Given the description of an element on the screen output the (x, y) to click on. 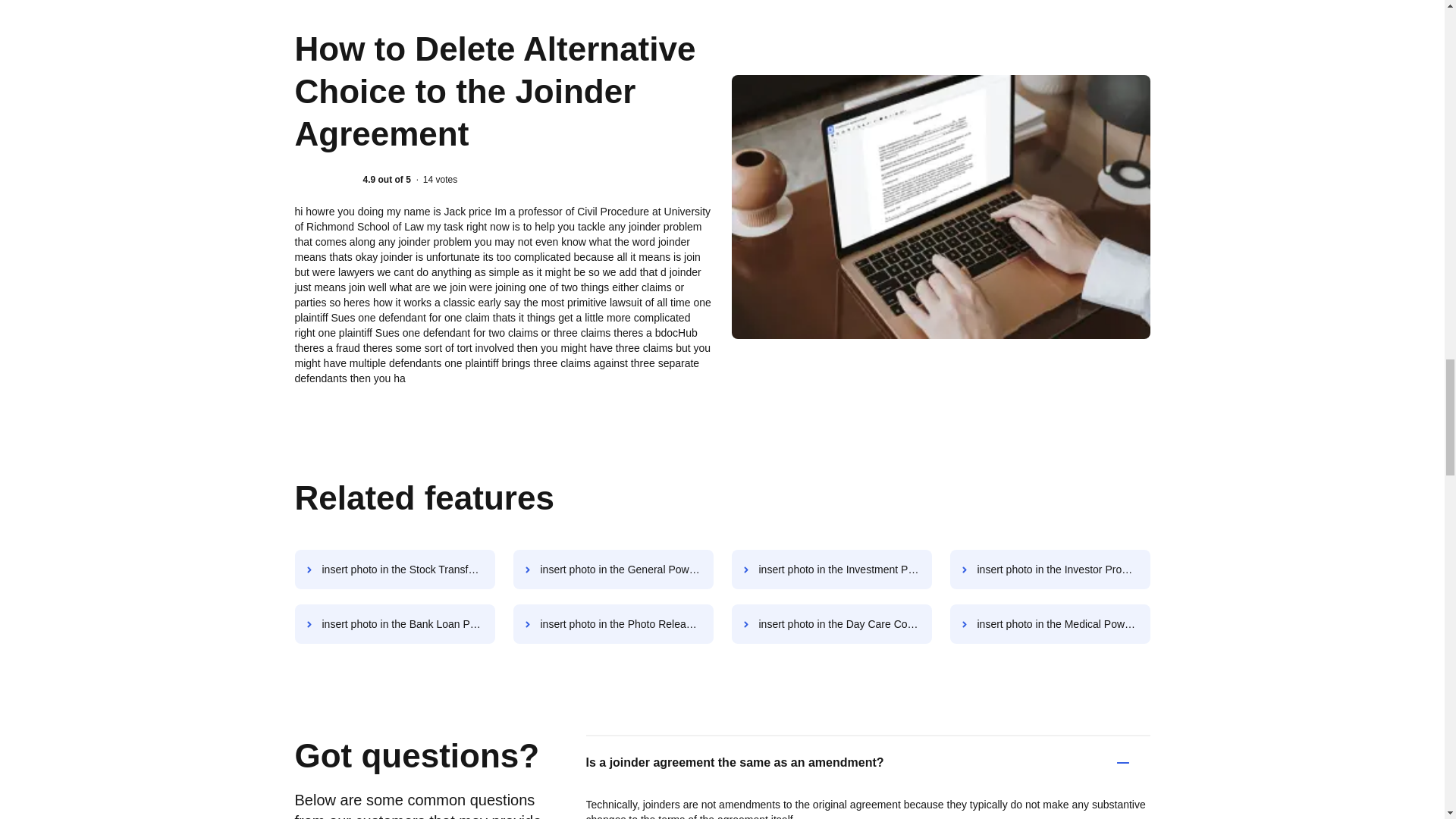
insert photo in the Medical Power of Attorney Template (1049, 623)
insert photo in the Bank Loan Proposal Template (394, 623)
insert photo in the Photo Release Form Template (612, 623)
insert photo in the Investment Proposal Template (830, 568)
insert photo in the Day Care Contract Template (830, 623)
insert photo in the Stock Transfer Form Template (394, 568)
insert photo in the General Power of Attorney Template (612, 568)
insert photo in the Investor Proposal Template (1049, 568)
